Given the description of an element on the screen output the (x, y) to click on. 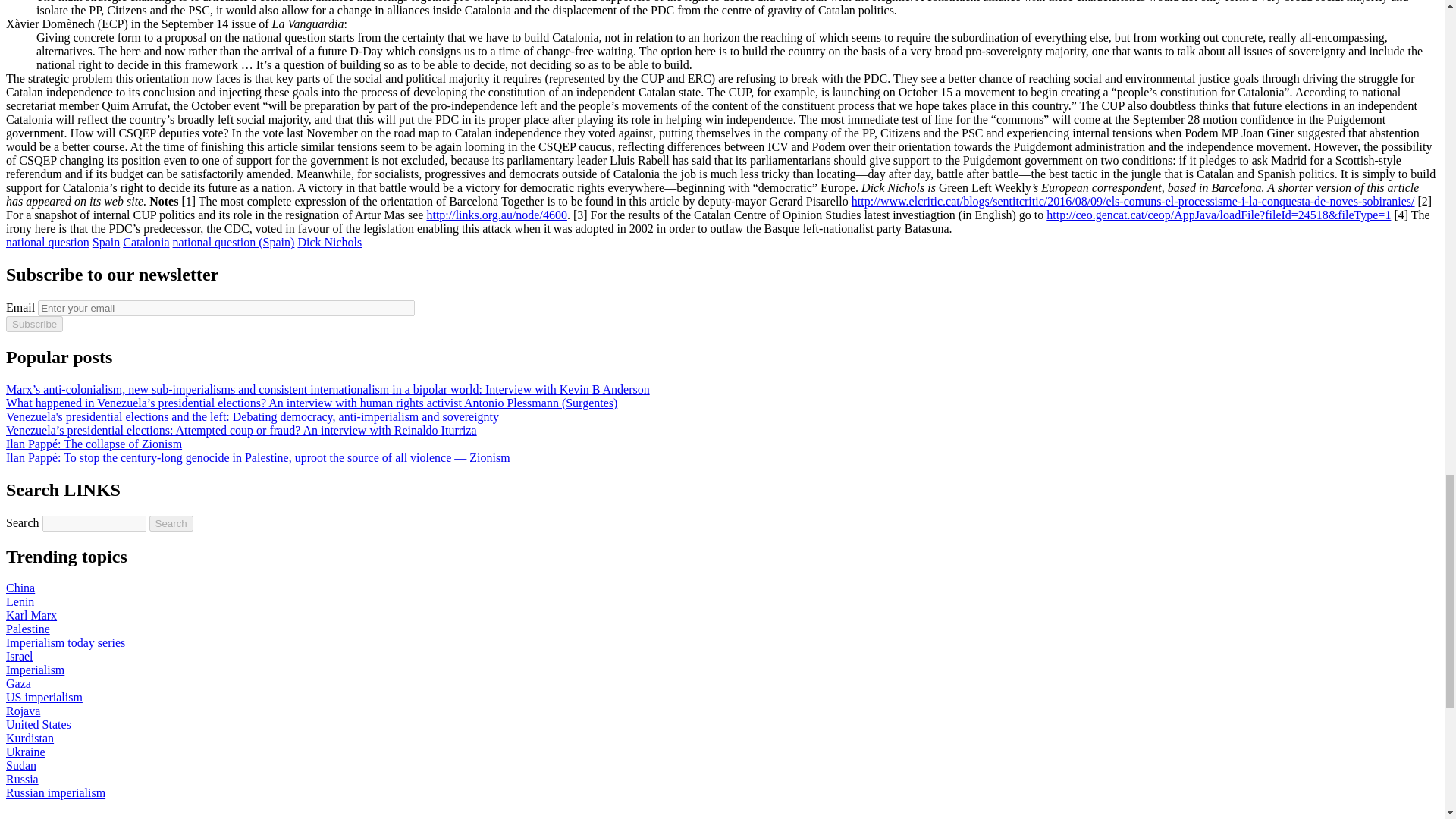
Search (171, 523)
Spain (106, 241)
Karl Marx (30, 615)
Catalonia (145, 241)
Subscribe (33, 324)
Search (171, 523)
Lenin (19, 601)
Israel (19, 656)
Imperialism today series (65, 642)
China (19, 587)
